Given the description of an element on the screen output the (x, y) to click on. 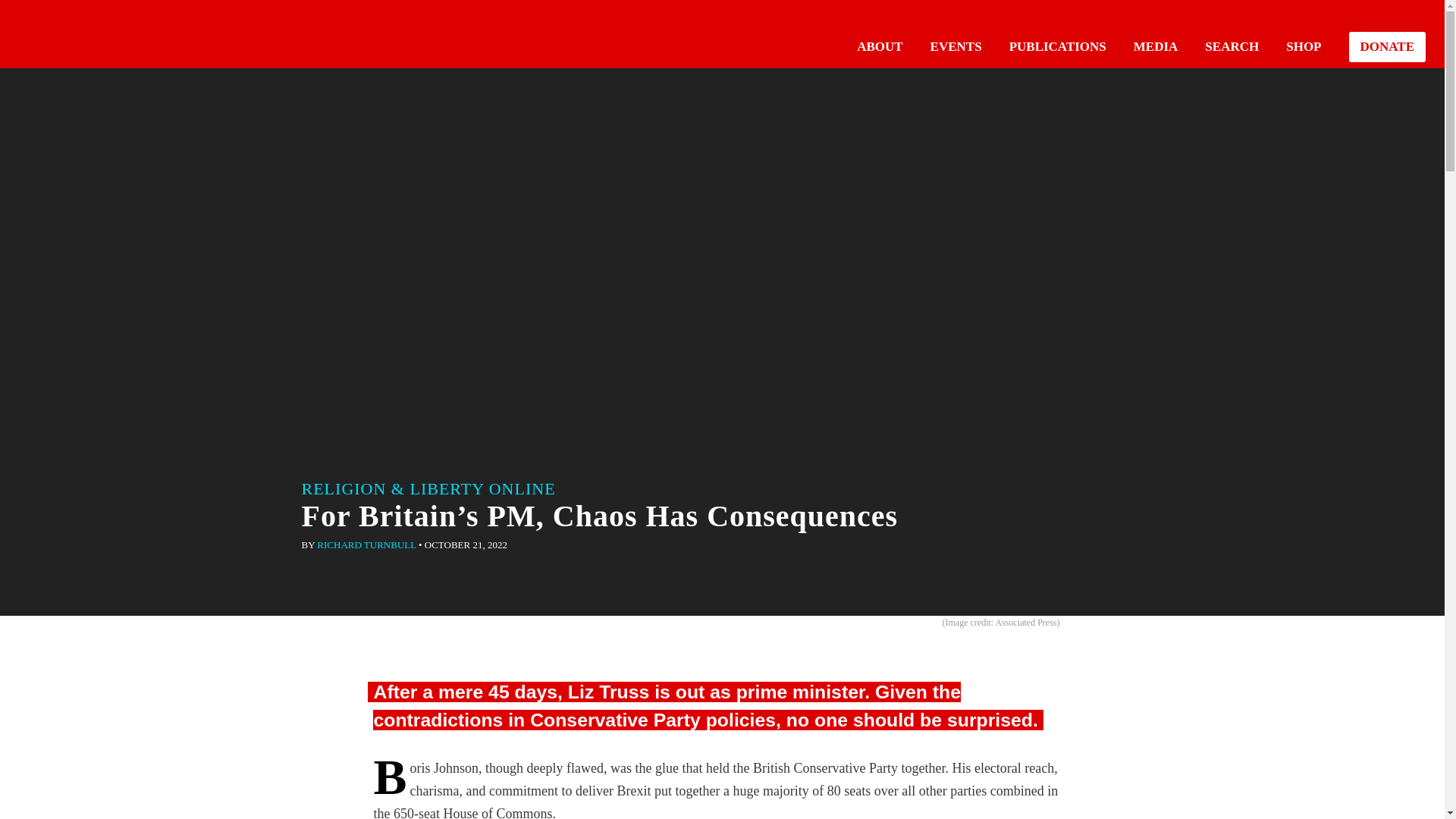
EVENTS (955, 46)
DONATE (1387, 46)
MEDIA (1155, 46)
SHOP (1302, 46)
The Acton Institute (60, 31)
PUBLICATIONS (1057, 46)
SEARCH (1232, 46)
ABOUT (879, 46)
Posts by Richard Turnbull (365, 544)
RICHARD TURNBULL (365, 544)
